Given the description of an element on the screen output the (x, y) to click on. 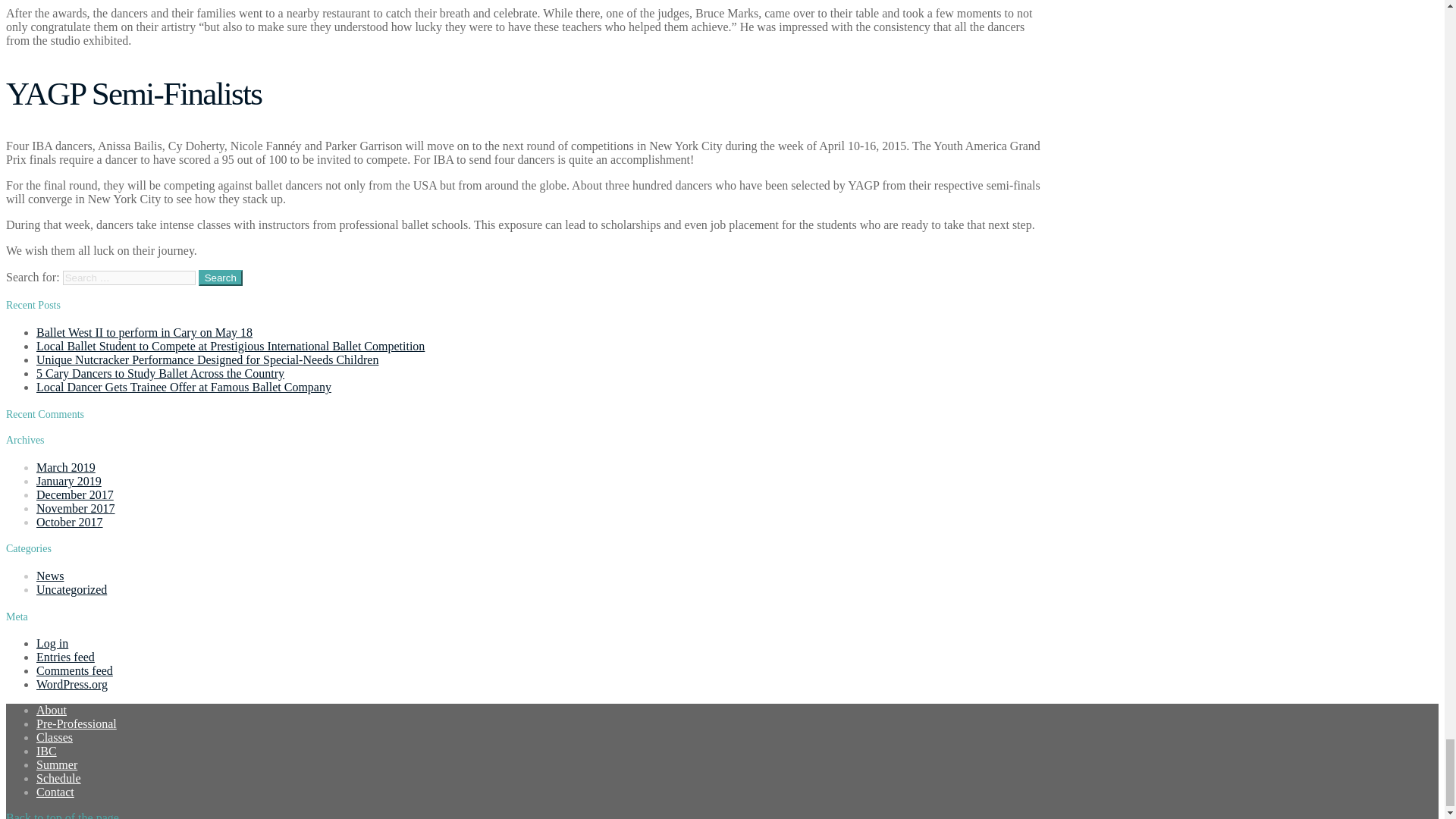
Search (220, 277)
Search (220, 277)
